Given the description of an element on the screen output the (x, y) to click on. 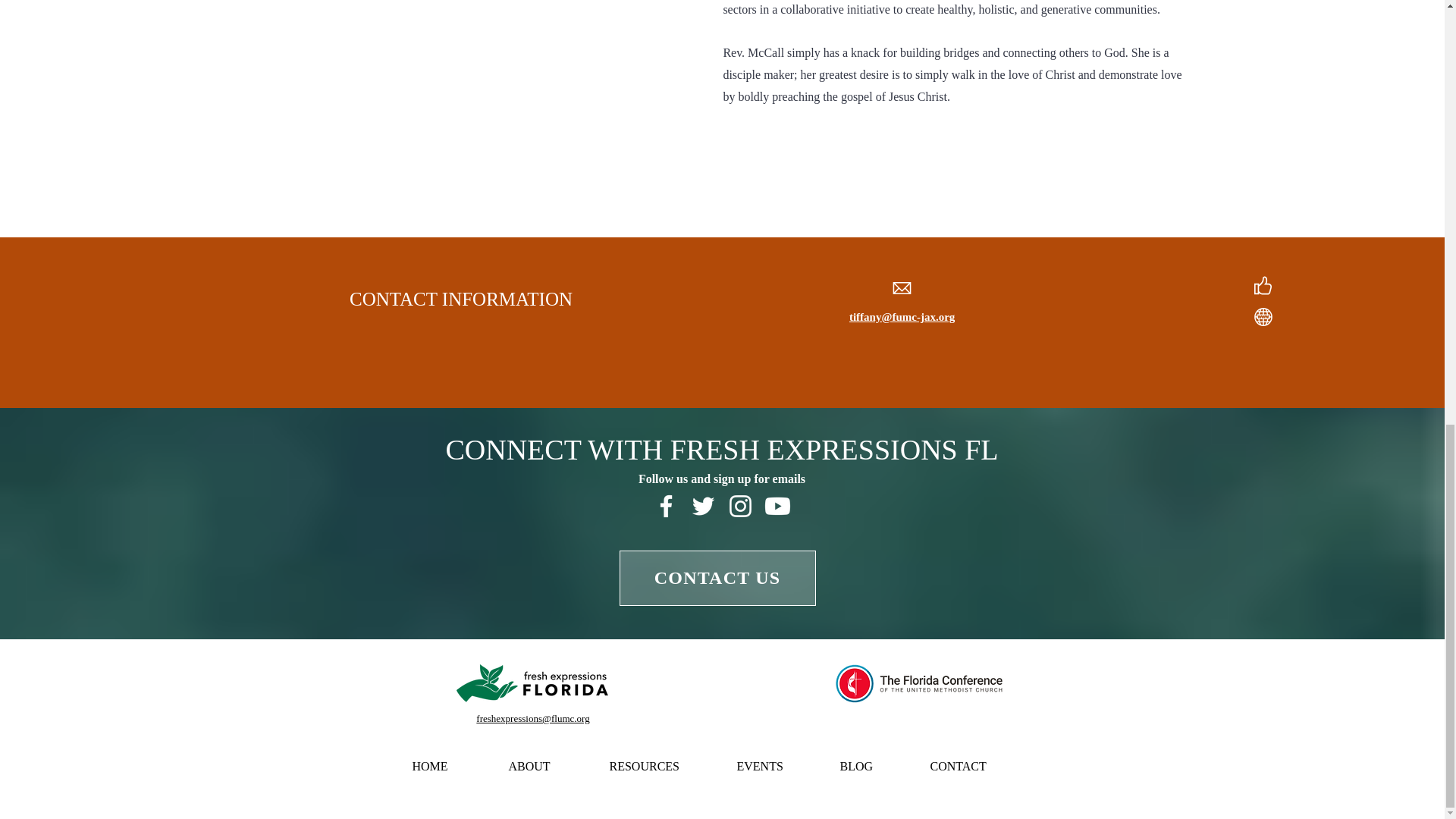
CONTACT US (716, 578)
HOME (448, 766)
